Given the description of an element on the screen output the (x, y) to click on. 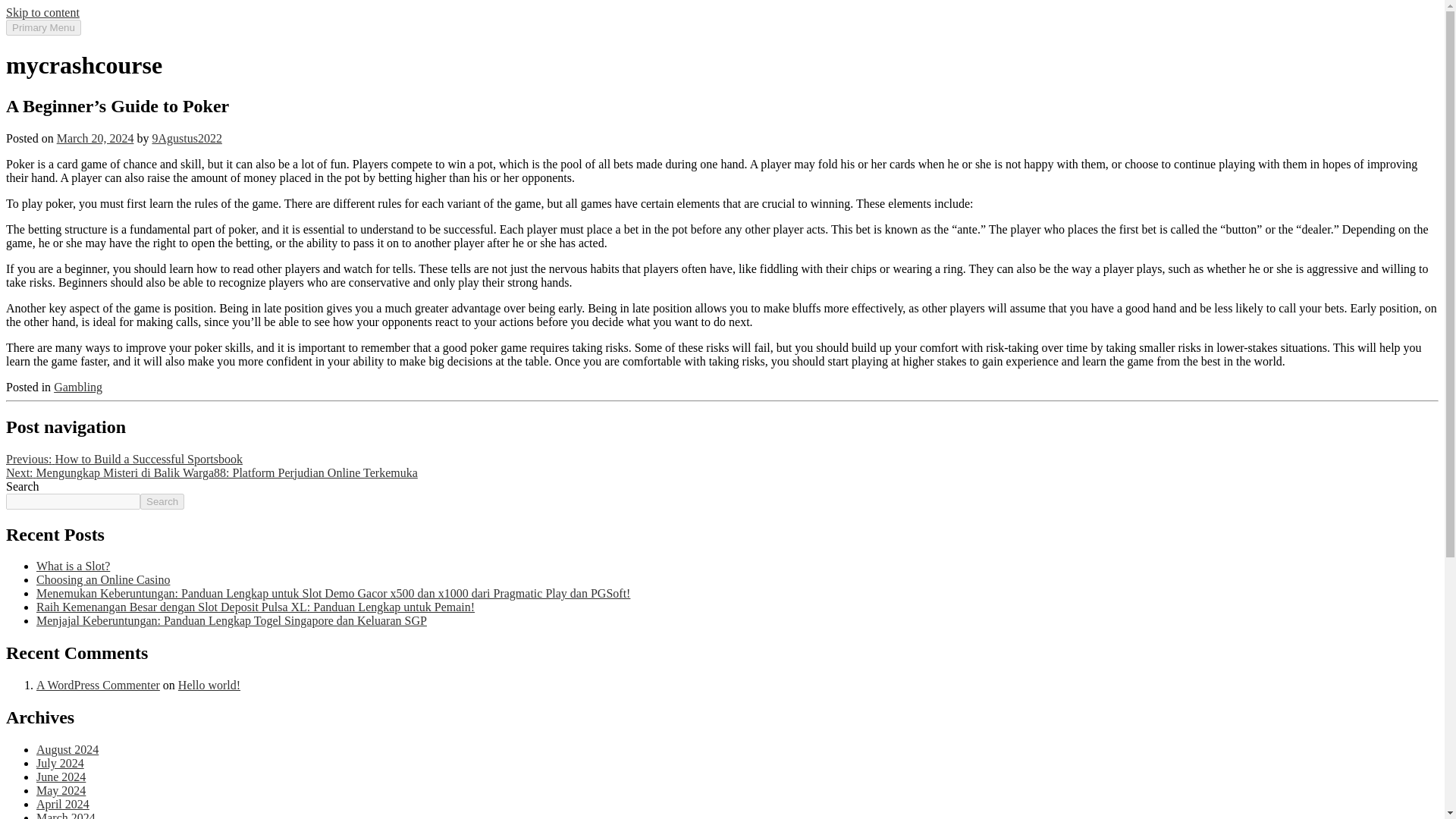
March 2024 (66, 815)
May 2024 (60, 789)
Hello world! (208, 684)
Gambling (77, 386)
Choosing an Online Casino (103, 579)
9Agustus2022 (186, 137)
March 20, 2024 (94, 137)
A WordPress Commenter (98, 684)
